Given the description of an element on the screen output the (x, y) to click on. 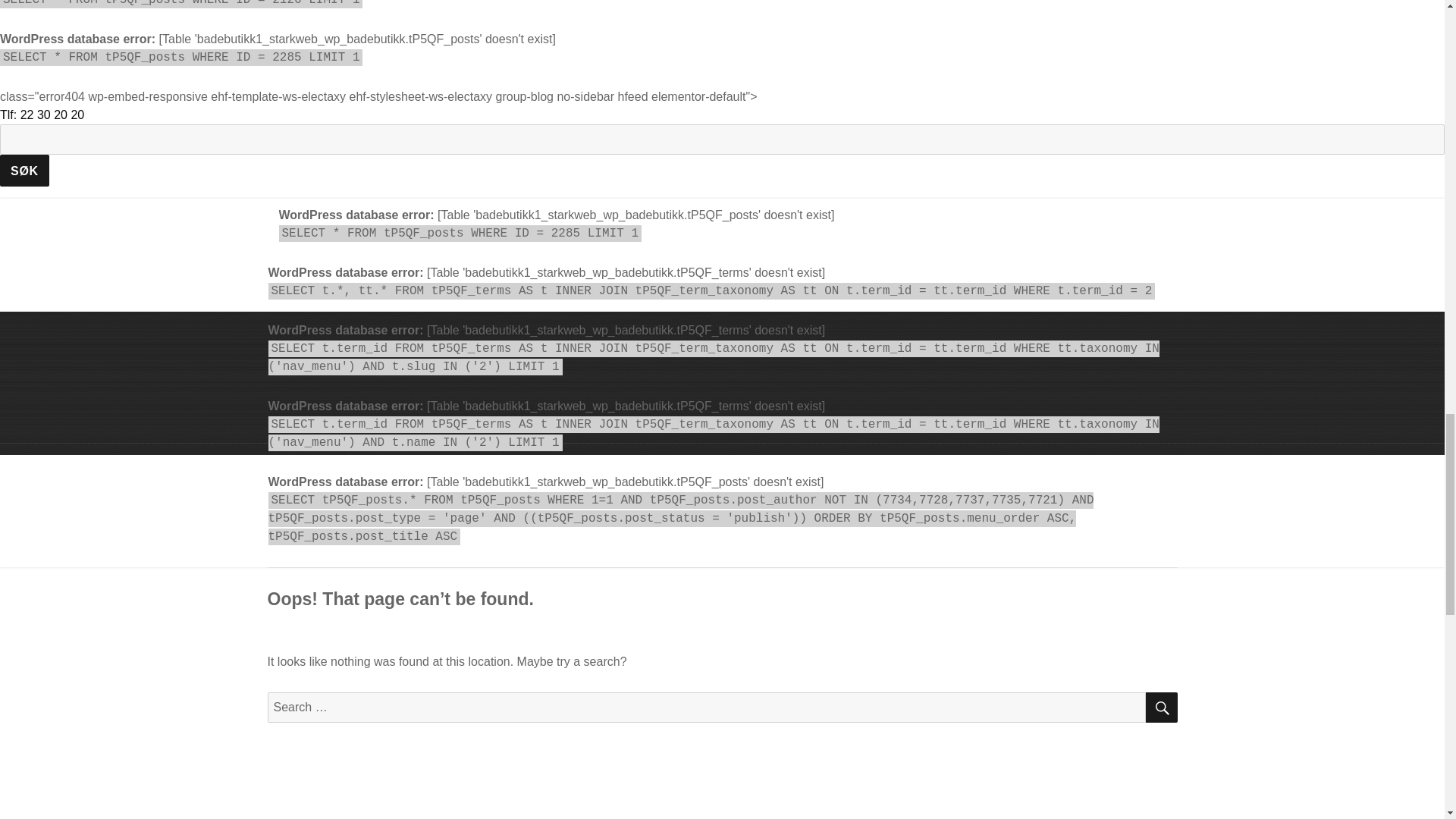
Badebutikk1 (342, 277)
Tlf: 22 30 20 20 (42, 114)
